Given the description of an element on the screen output the (x, y) to click on. 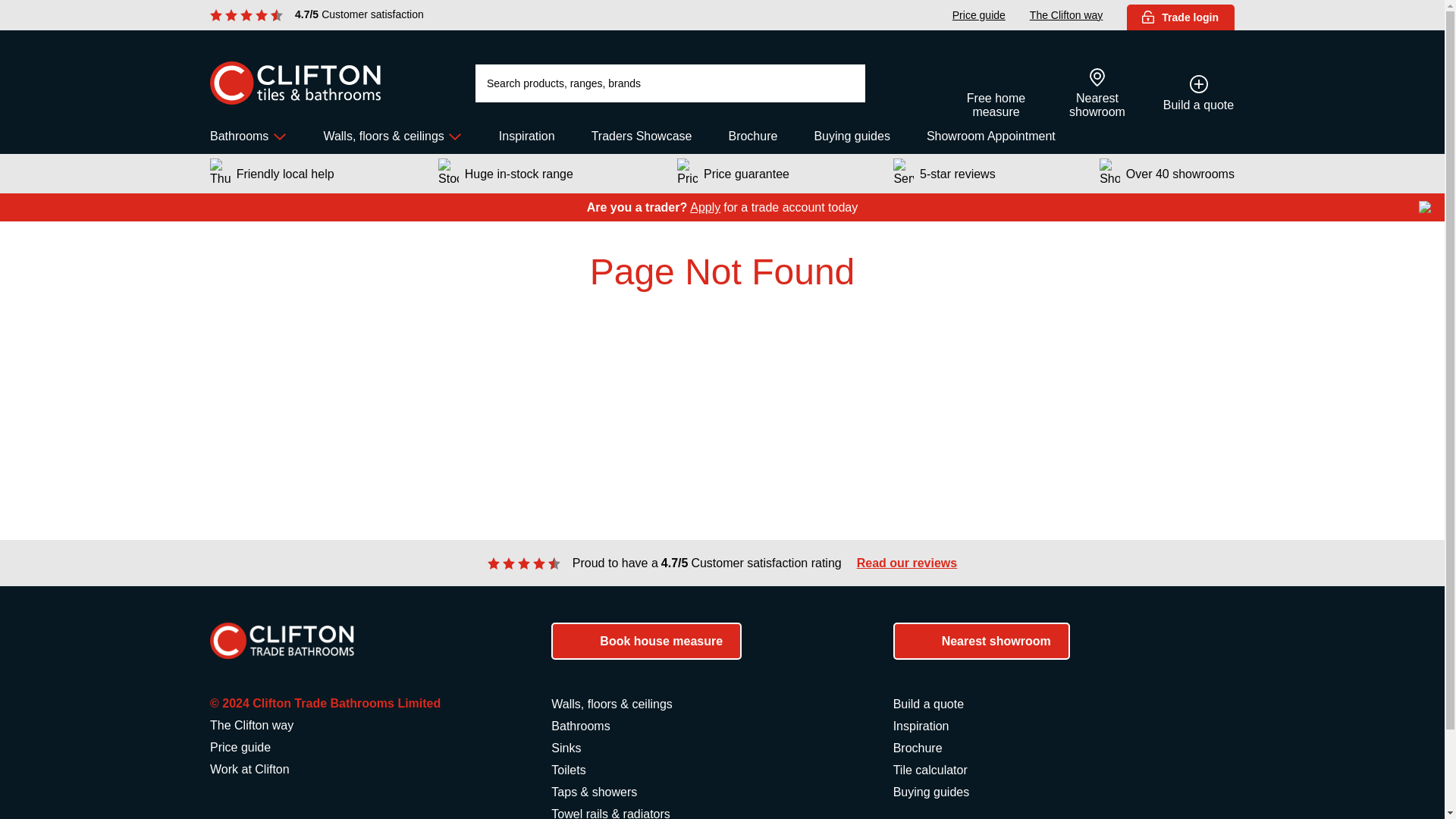
Trade login (1180, 17)
The Clifton way (1065, 15)
Price guide (979, 15)
